Given the description of an element on the screen output the (x, y) to click on. 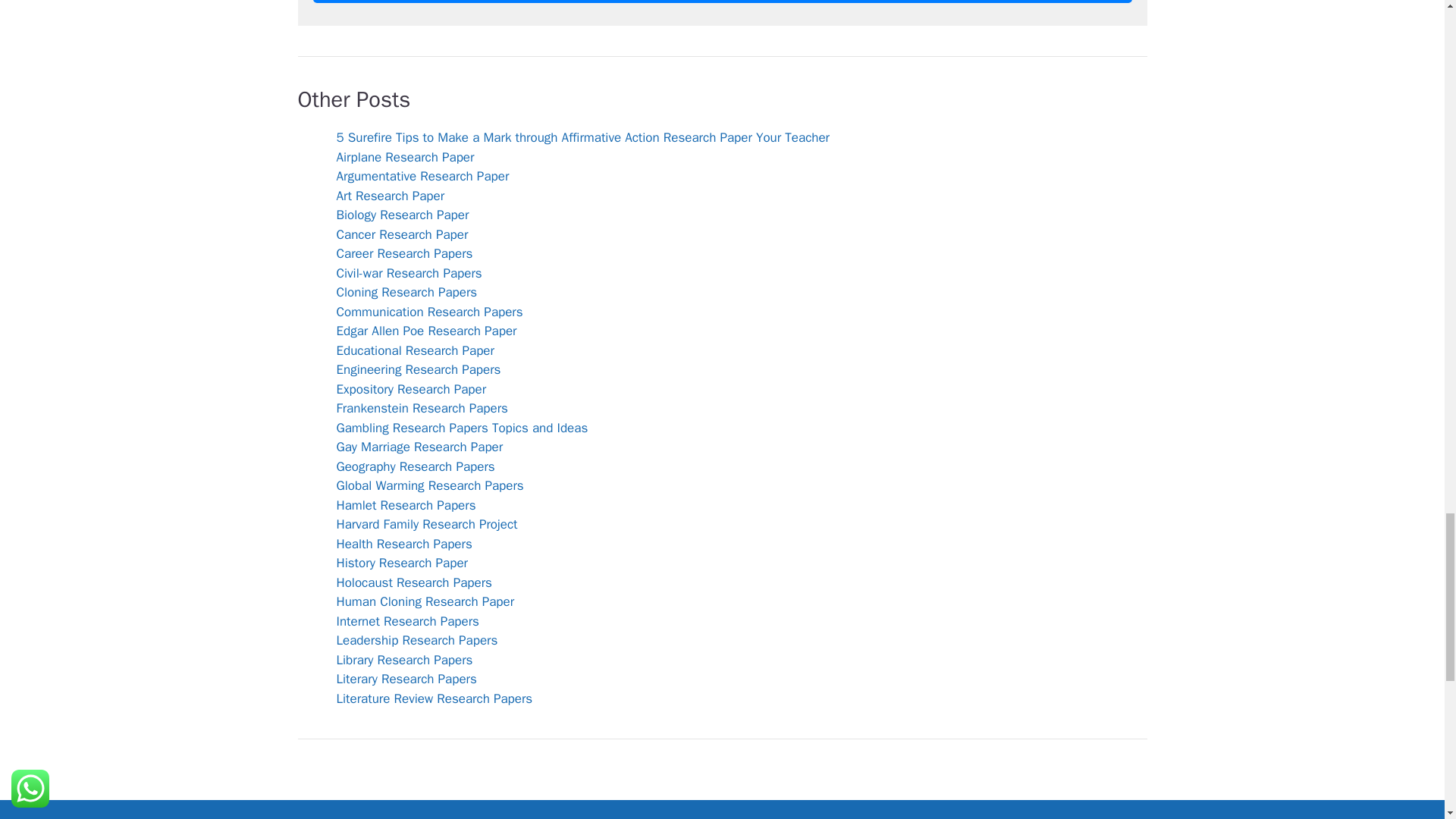
Cloning Research Papers (406, 292)
Argumentative Research Paper (422, 176)
Communication Research Papers (429, 311)
Civil-war Research Papers (408, 273)
Airplane Research Paper (405, 157)
Argumentative Research Paper (422, 176)
Biology Research Paper (402, 214)
Cancer Research Paper (402, 234)
Career Research Papers (404, 253)
